Given the description of an element on the screen output the (x, y) to click on. 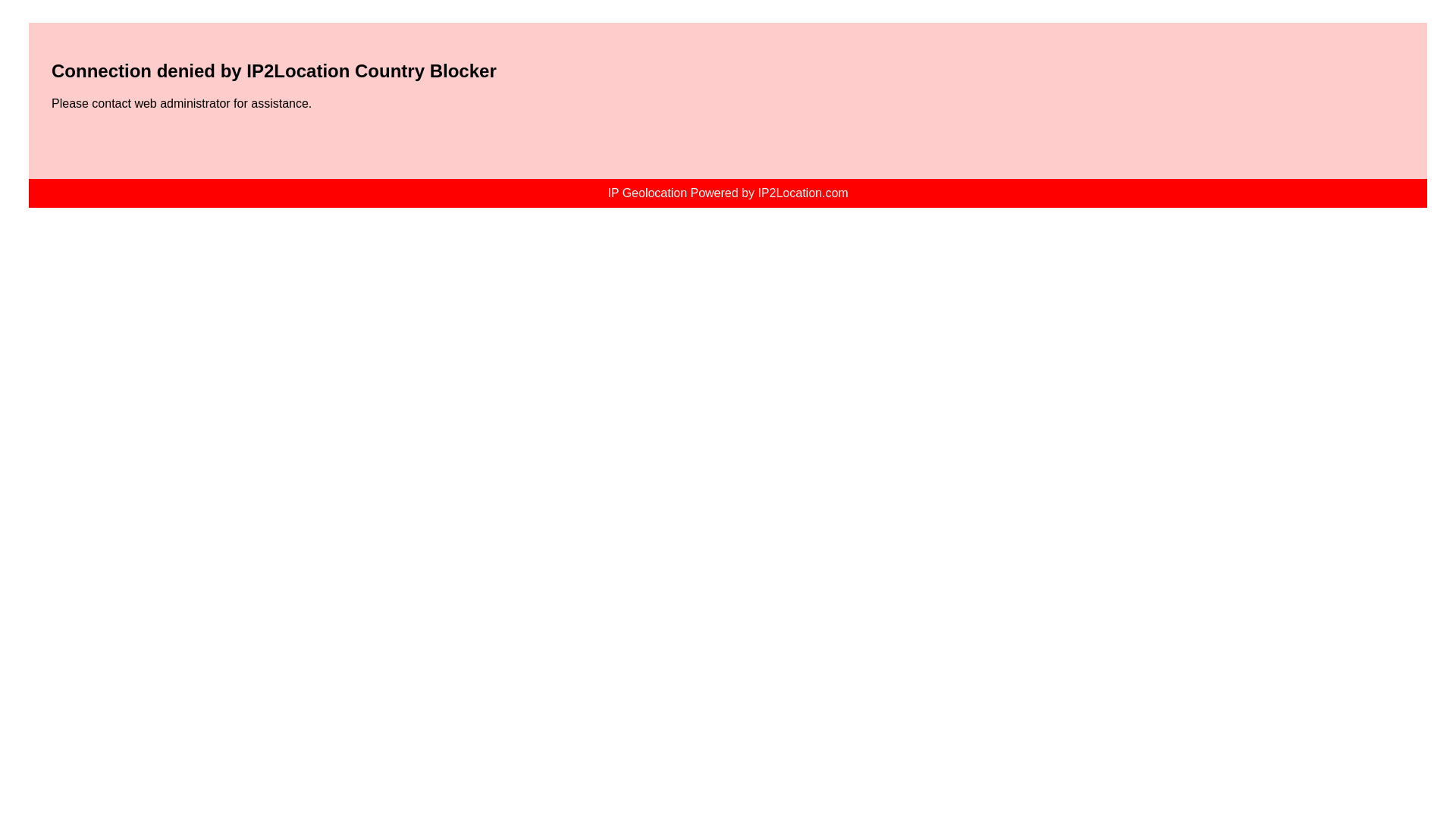
IP Geolocation Powered by IP2Location.com (727, 192)
